Given the description of an element on the screen output the (x, y) to click on. 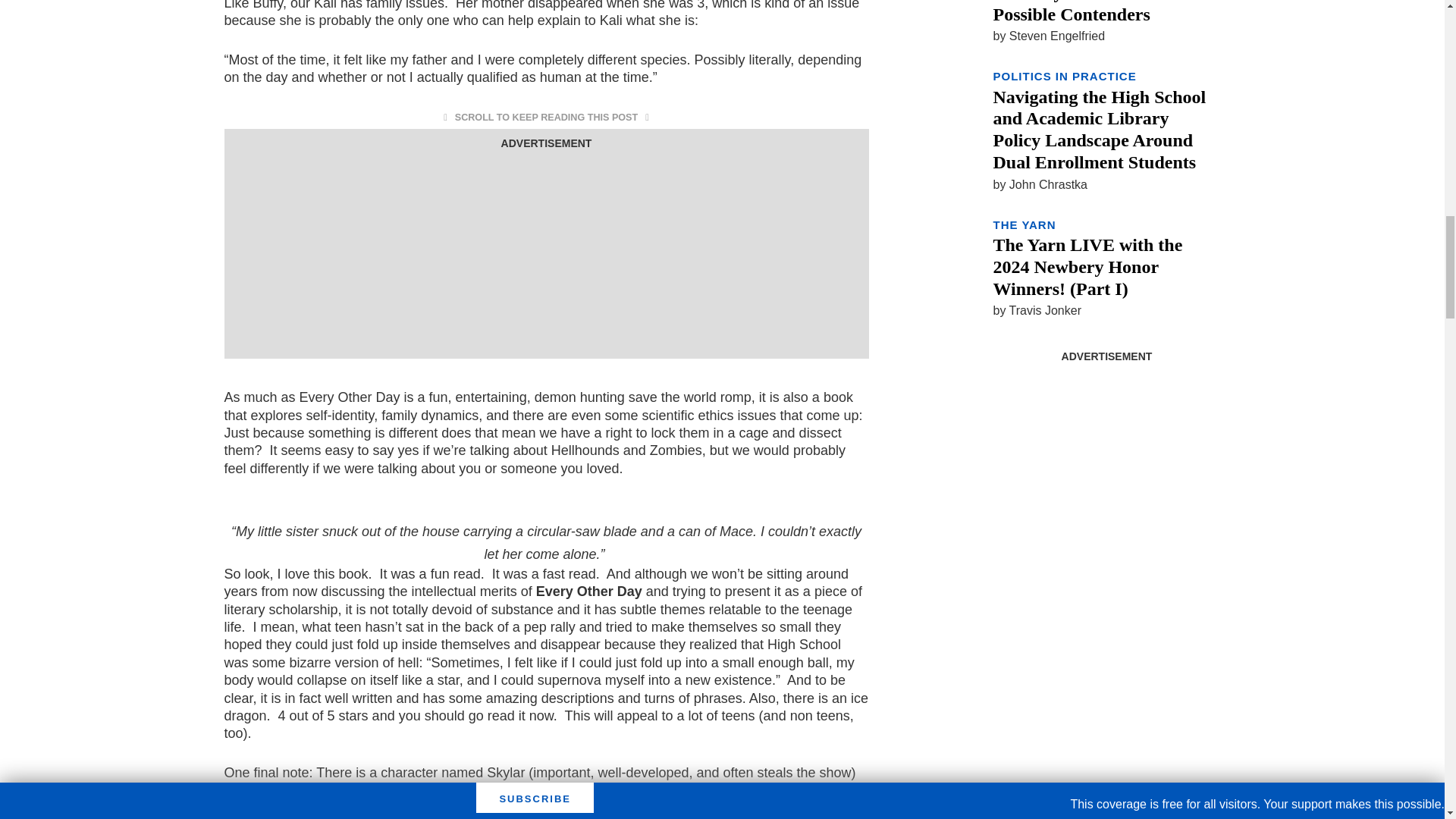
3rd party ad content (1106, 465)
3rd party ad content (545, 248)
SCROLL TO KEEP READING THIS POST (546, 117)
